Given the description of an element on the screen output the (x, y) to click on. 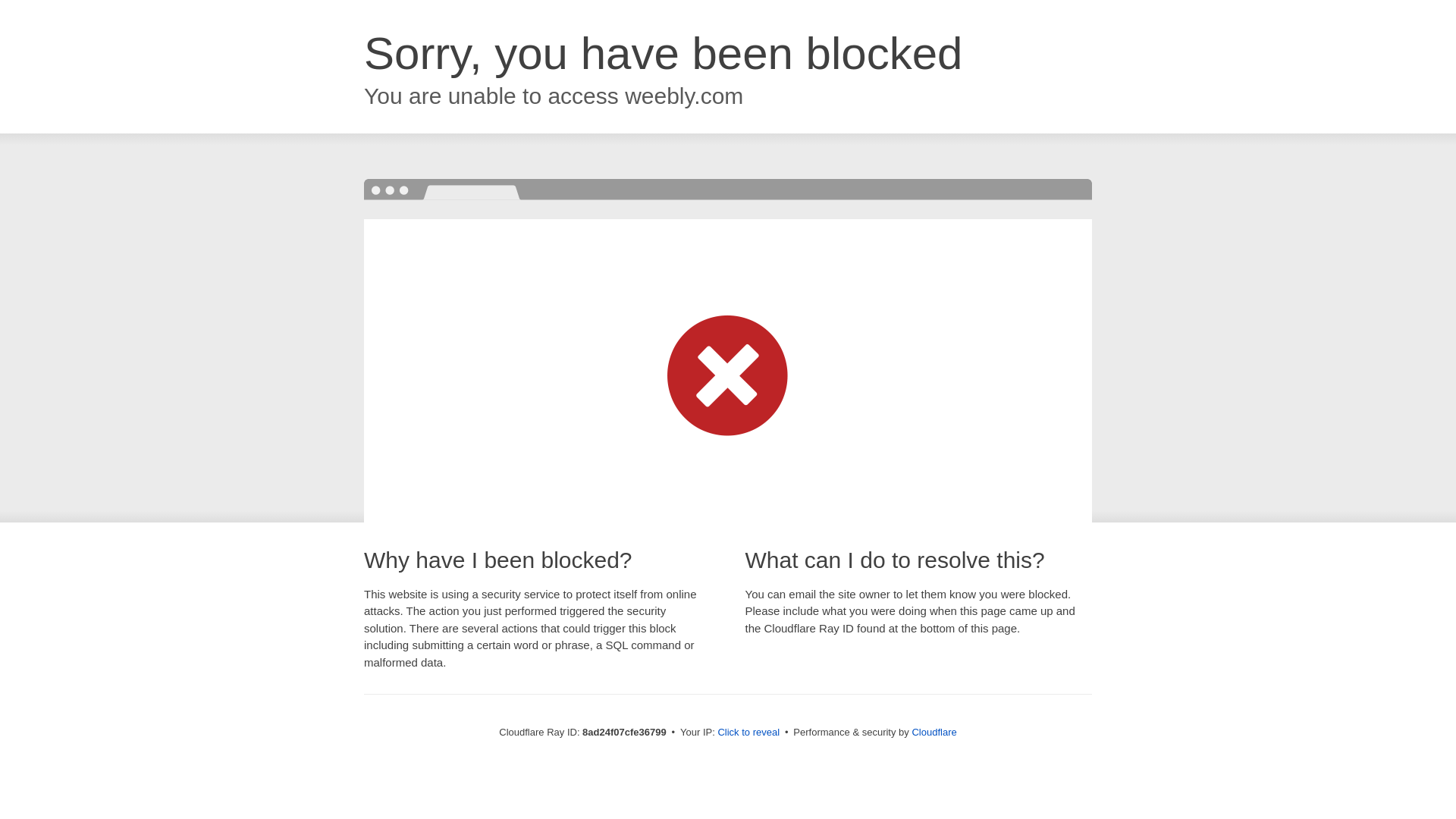
Click to reveal (747, 732)
Cloudflare (933, 731)
